Given the description of an element on the screen output the (x, y) to click on. 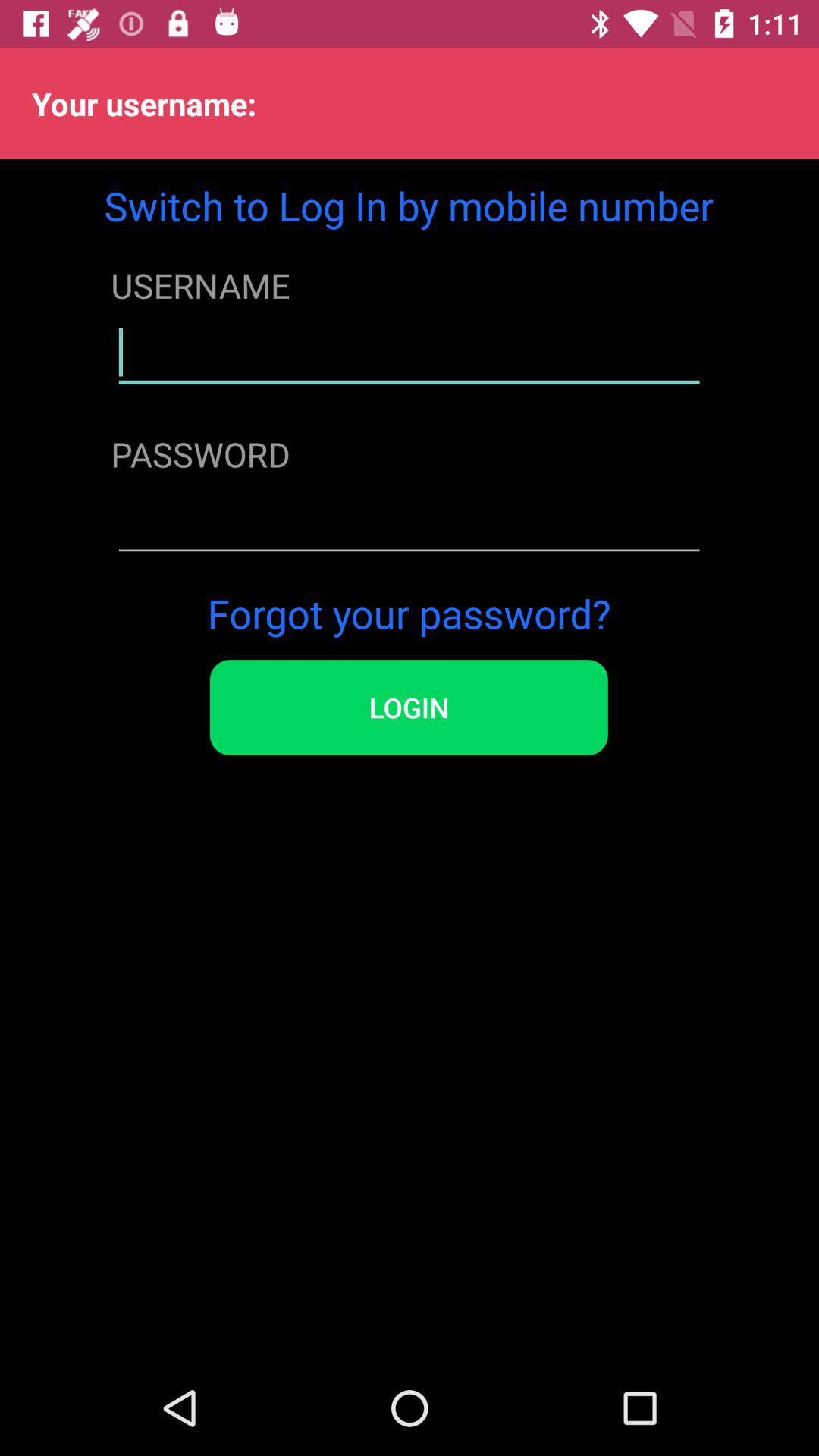
jump until the login icon (408, 707)
